Given the description of an element on the screen output the (x, y) to click on. 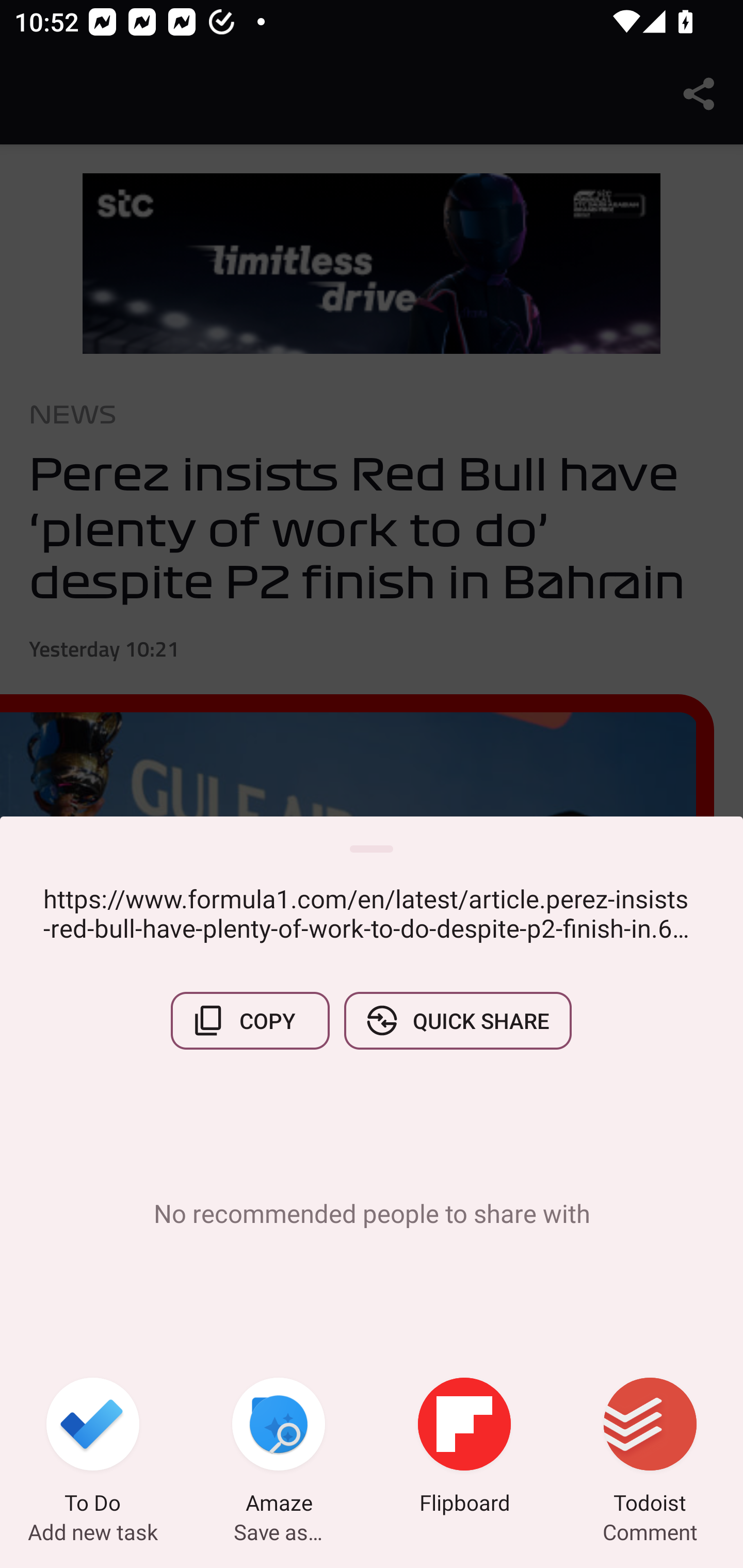
COPY (249, 1020)
QUICK SHARE (457, 1020)
To Do Add new task (92, 1448)
Amaze Save as… (278, 1448)
Flipboard (464, 1448)
Todoist Comment (650, 1448)
